Given the description of an element on the screen output the (x, y) to click on. 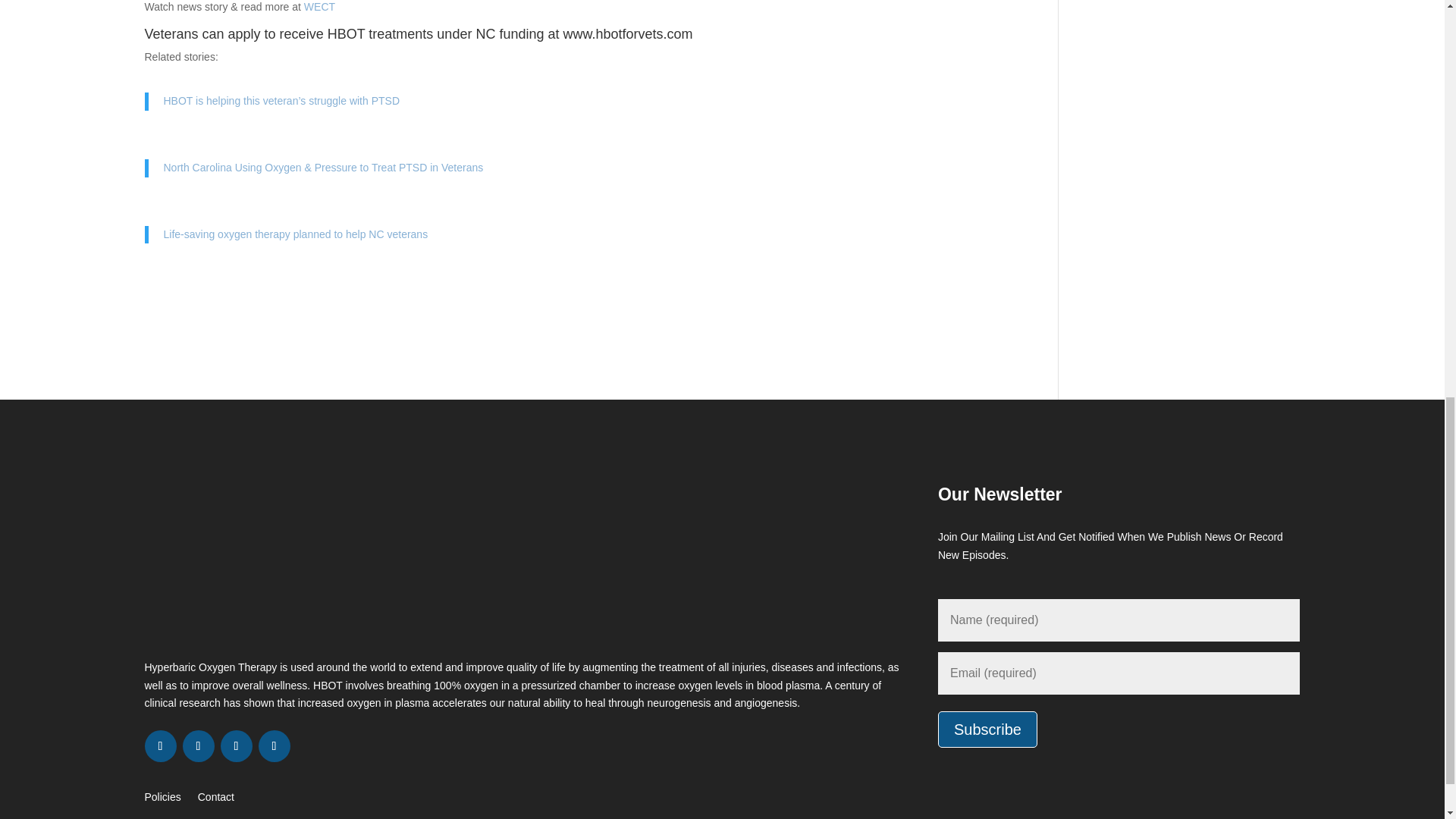
Follow on Instagram (235, 746)
Follow on Facebook (160, 746)
Follow on Twitter (198, 746)
Follow on Youtube (273, 746)
www.hbotforvets.com (627, 33)
HBOT News Network Logo Color (352, 564)
Subscribe (986, 729)
WECT (319, 6)
